Given the description of an element on the screen output the (x, y) to click on. 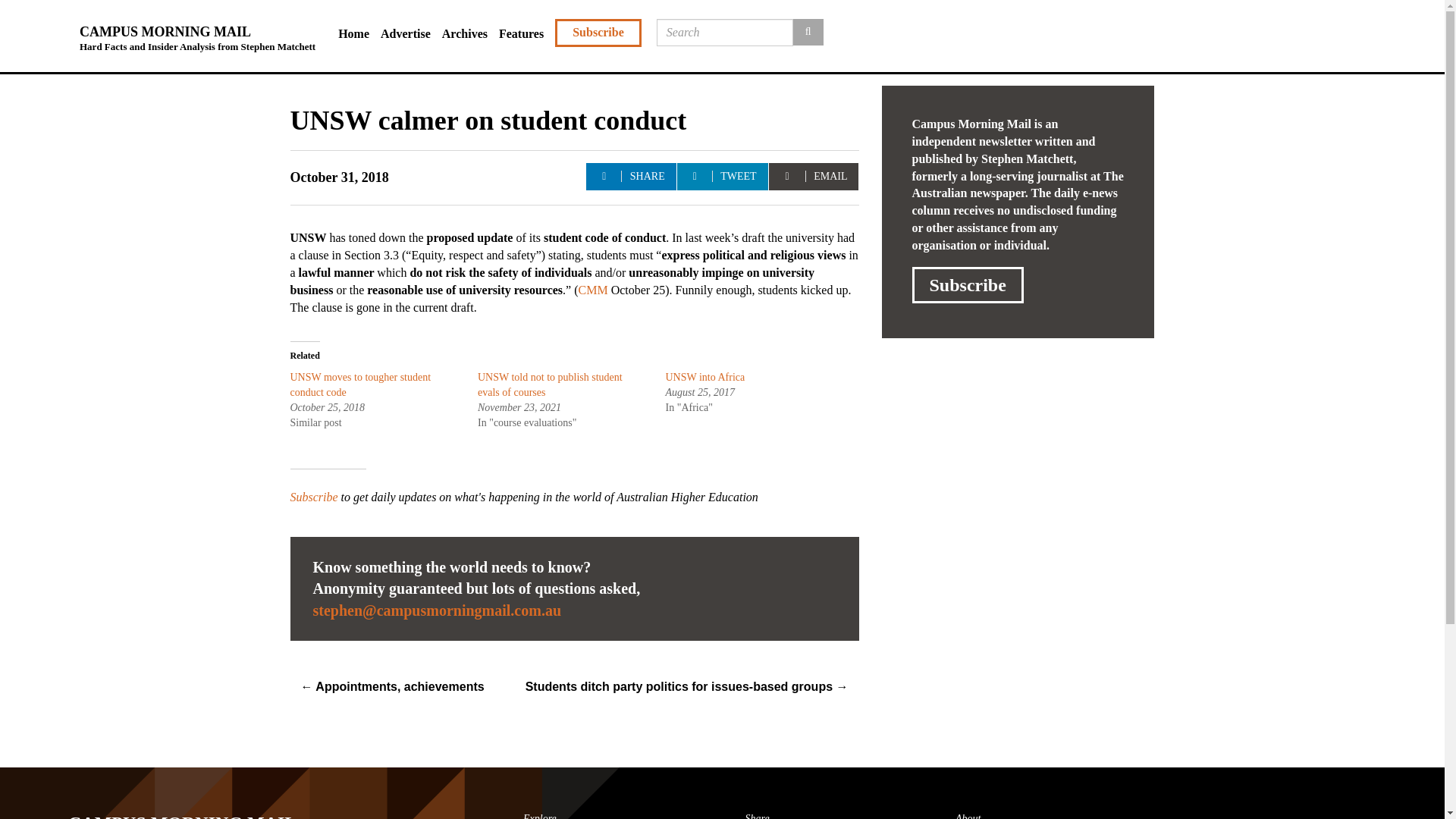
SHARE (630, 176)
Features (526, 34)
Share via email (813, 176)
EMAIL (813, 176)
UNSW into Africa  (706, 377)
UNSW told not to publish student evals of courses (550, 384)
TWEET (722, 176)
Subscribe (967, 284)
Campus Morning Mail (213, 808)
Email (436, 610)
Subscribe (313, 497)
UNSW told not to publish student evals of courses (550, 384)
Features (526, 34)
Search (808, 31)
